Given the description of an element on the screen output the (x, y) to click on. 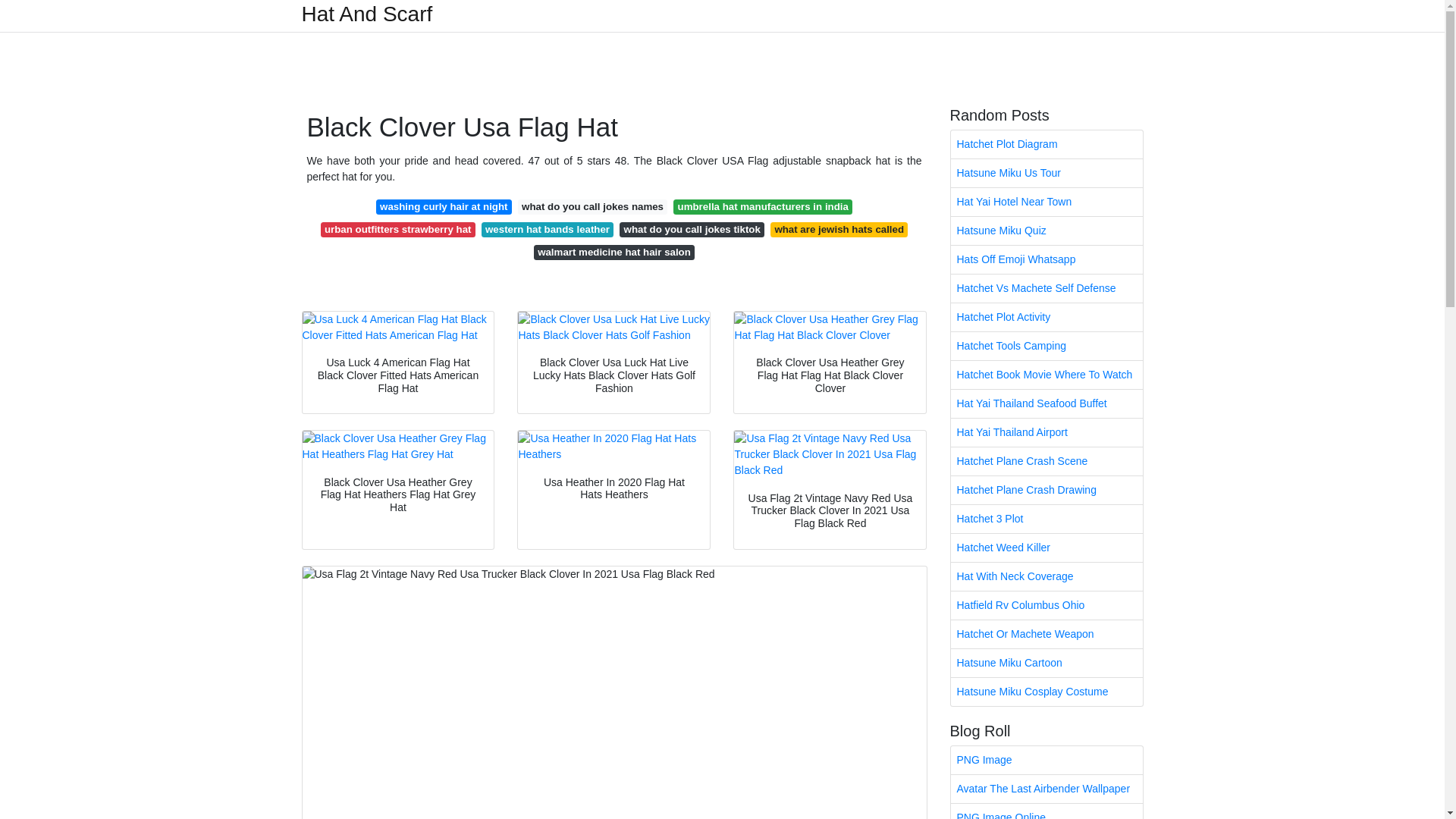
what do you call jokes tiktok (692, 229)
Hat And Scarf (366, 13)
Hat Yai Thailand Seafood Buffet (1046, 403)
umbrella hat manufacturers in india (761, 206)
Hat Yai Hotel Near Town (1046, 202)
what do you call jokes names (593, 206)
Hatchet Tools Camping (1046, 346)
Hatchet Plot Diagram (1046, 144)
Hats Off Emoji Whatsapp (1046, 259)
what are jewish hats called (838, 229)
western hat bands leather (547, 229)
walmart medicine hat hair salon (614, 252)
washing curly hair at night (443, 206)
Hat And Scarf (366, 13)
Hatchet Plot Activity (1046, 317)
